Given the description of an element on the screen output the (x, y) to click on. 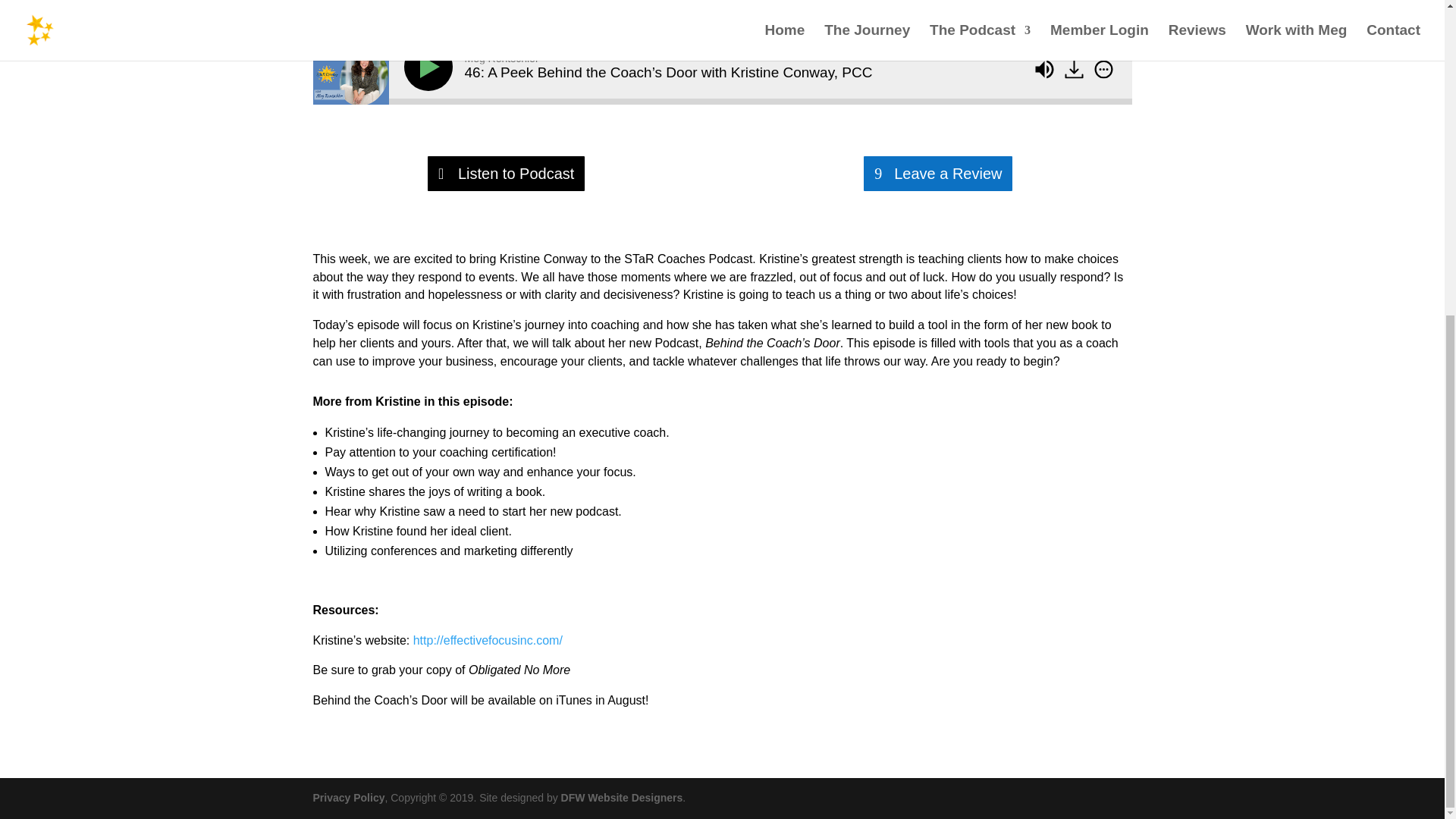
Leave a Review (937, 173)
Listen to Podcast (506, 173)
More (1103, 68)
Download (1075, 70)
DFW Website Designers (621, 797)
Download (1074, 68)
Privacy Policy (348, 797)
